Given the description of an element on the screen output the (x, y) to click on. 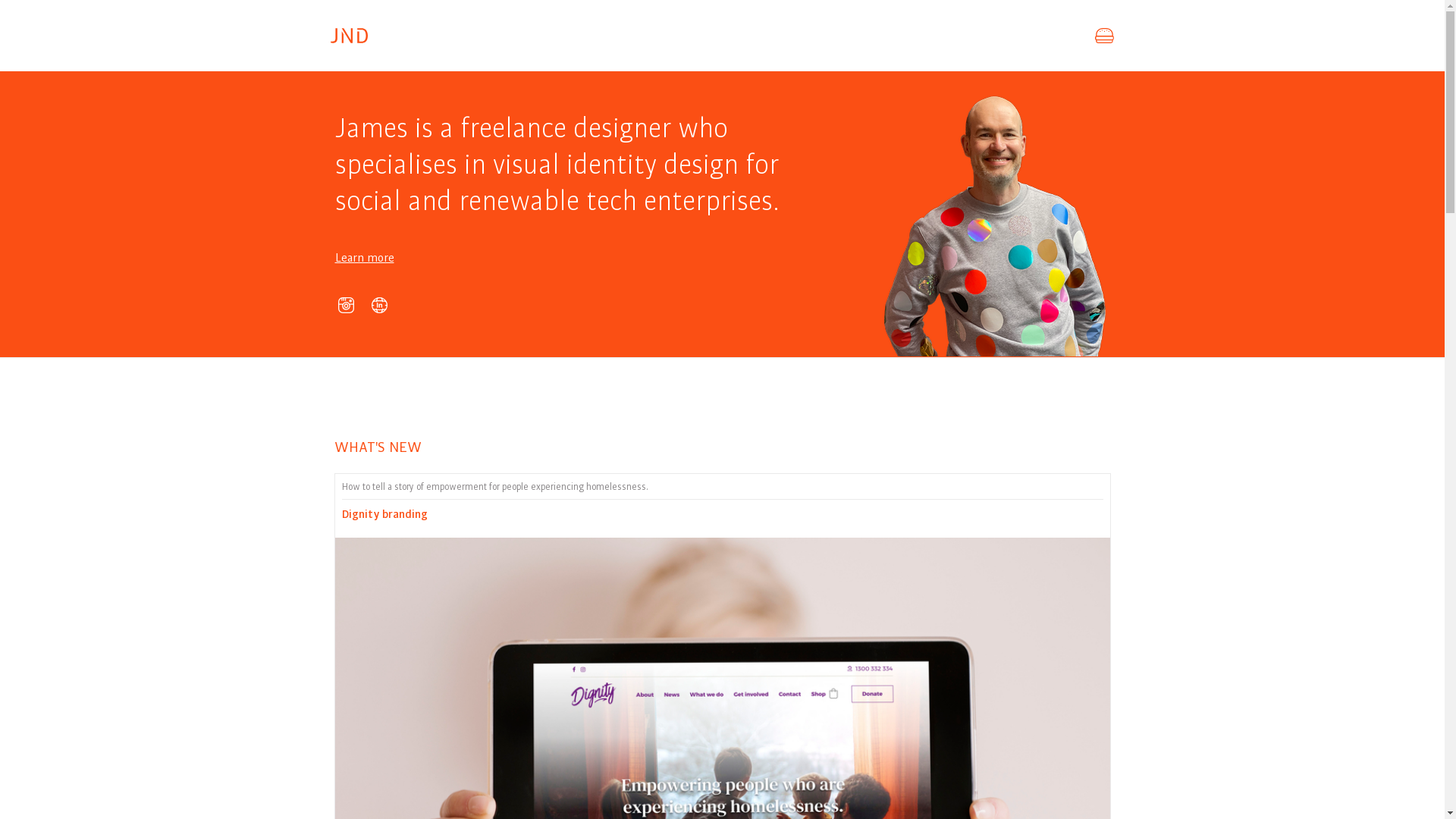
Learn more Element type: text (364, 257)
James Norton Design Element type: text (349, 35)
